Given the description of an element on the screen output the (x, y) to click on. 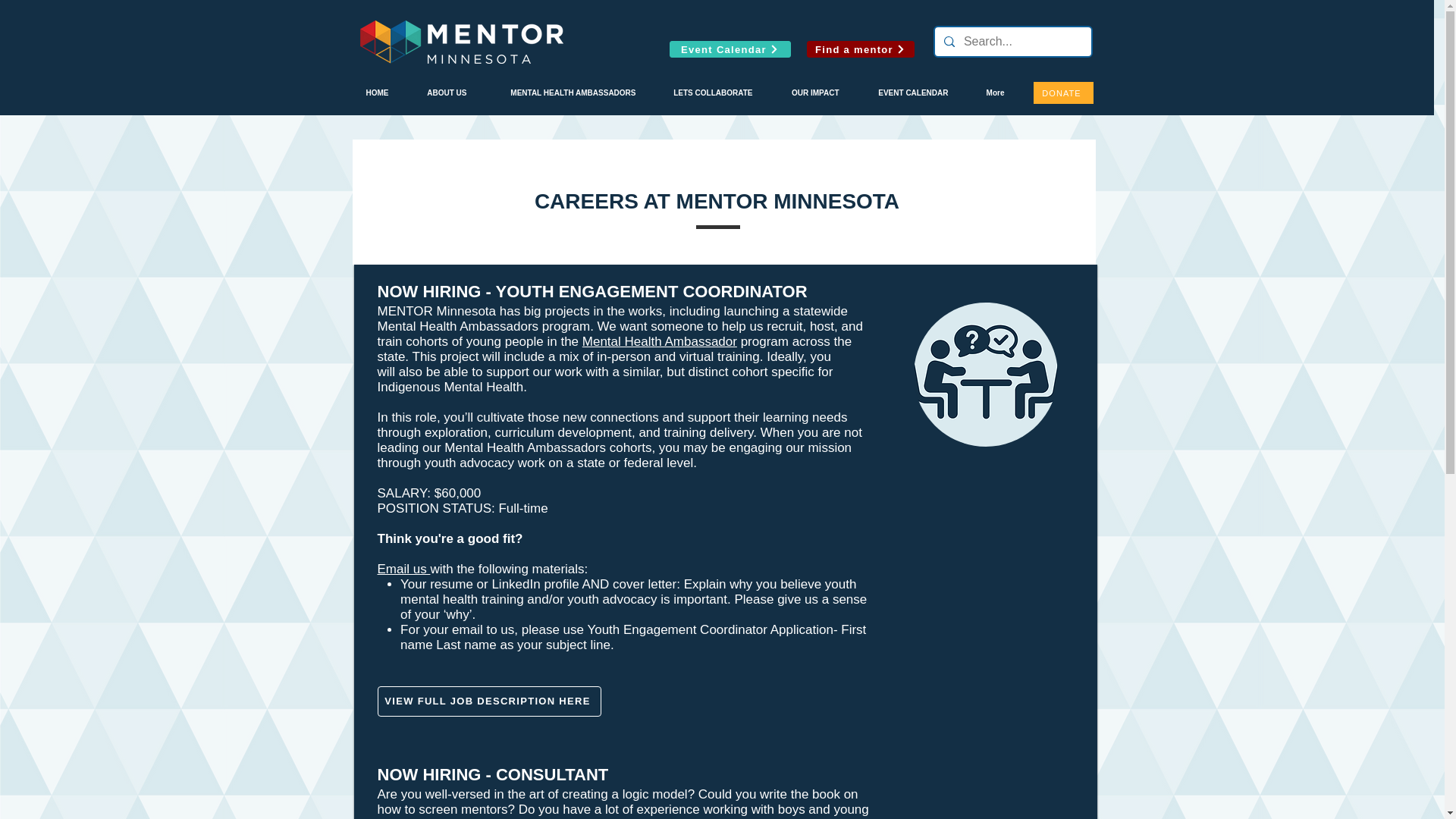
Find a mentor (860, 48)
VIEW FULL JOB DESCRIPTION HERE (489, 701)
Mental Health Ambassador (659, 341)
HOME (367, 92)
EVENT CALENDAR (904, 92)
MENTAL HEALTH AMBASSADORS (561, 92)
Email us (403, 568)
Event Calendar (729, 48)
DONATE (1062, 92)
